Given the description of an element on the screen output the (x, y) to click on. 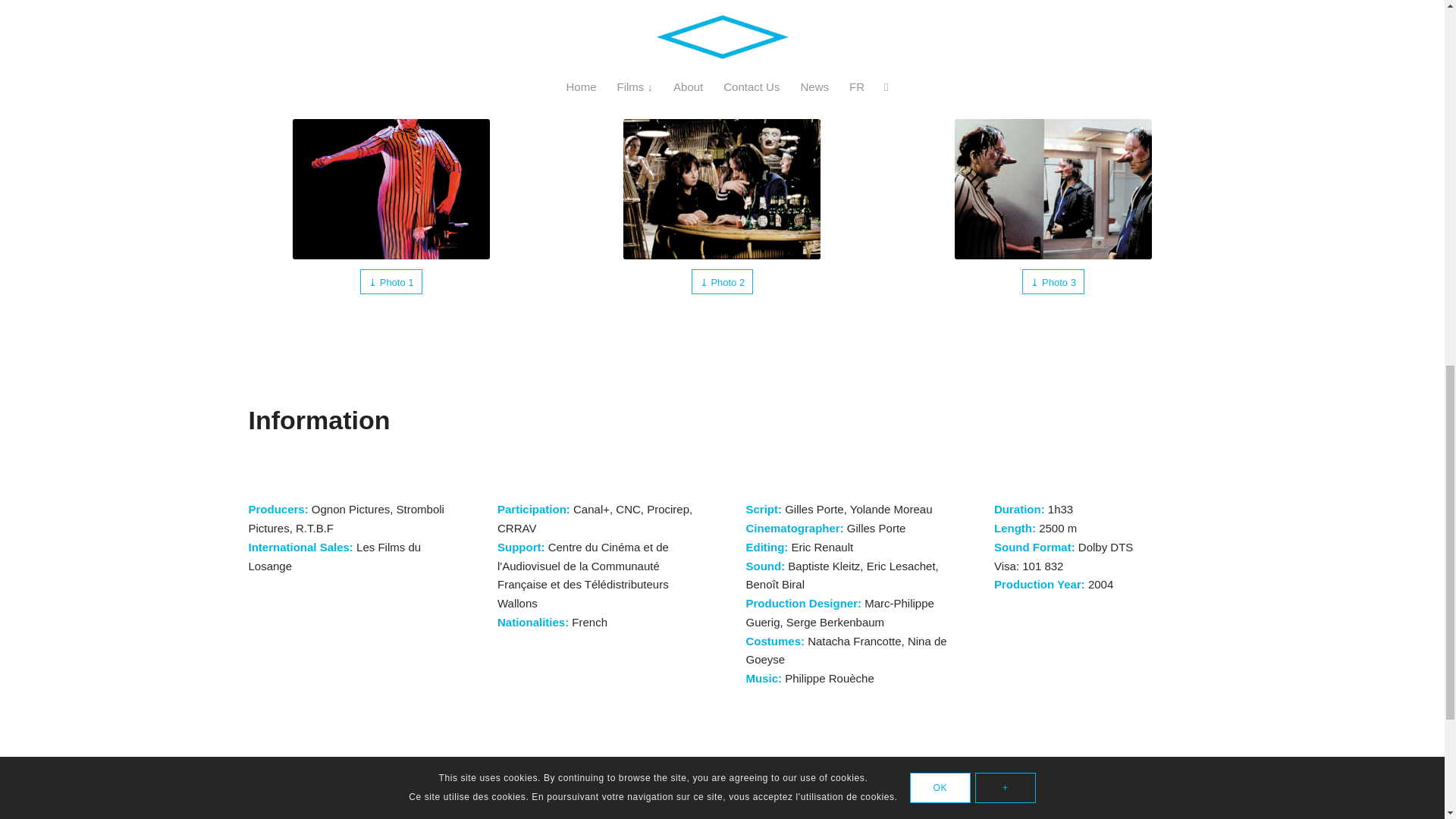
photo-1-quand-la-mer-monte-260x185.jpg (722, 188)
photo-0-quand-la-mer-monte-260x185.jpg (390, 188)
